Given the description of an element on the screen output the (x, y) to click on. 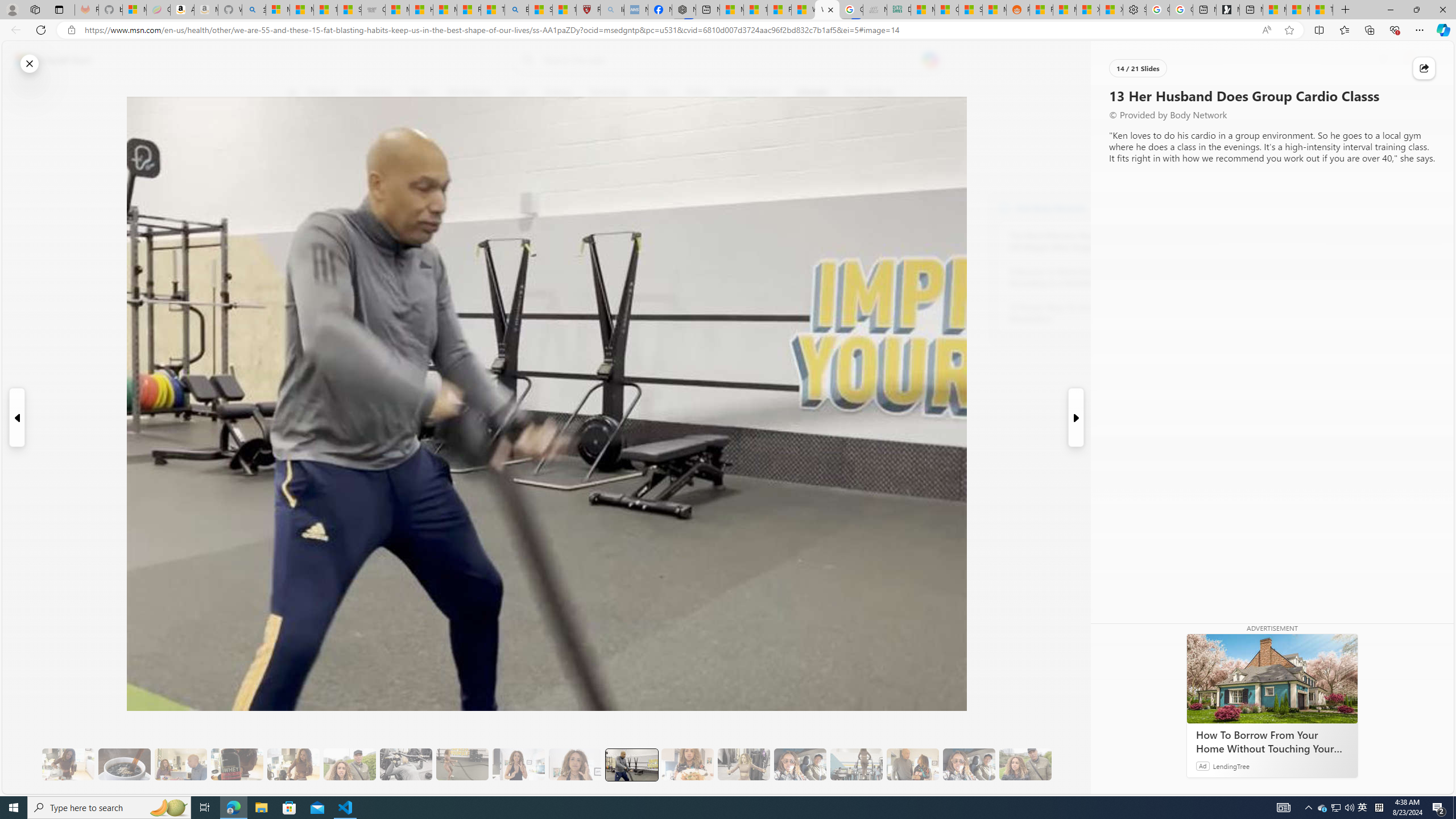
How I Got Rid of Microsoft Edge's Unnecessary Features (421, 9)
14 They Have Salmon and Veggies for Dinner (687, 764)
LendingTree (1231, 765)
Class: button-glyph (292, 92)
12 Proven Ways To Increase Your Metabolism (1071, 313)
8 Reasons to Drink Kombucha, According to a Nutritionist (1071, 277)
